Given the description of an element on the screen output the (x, y) to click on. 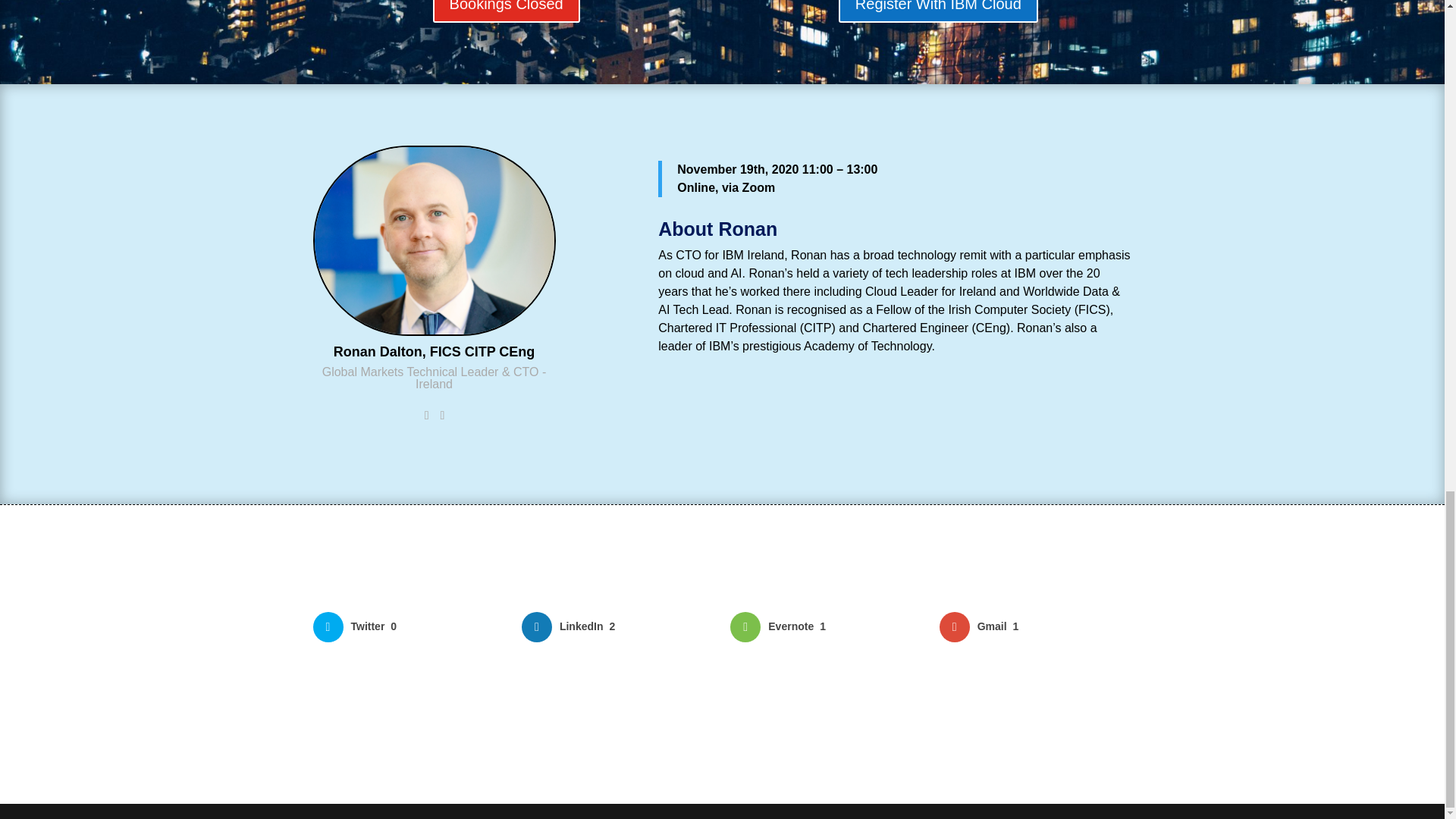
Register With IBM Cloud (938, 11)
Gmail 1 (1035, 626)
Twitter 0 (409, 626)
Evernote 1 (826, 626)
LinkedIn 2 (617, 626)
Bookings Closed (505, 11)
